Given the description of an element on the screen output the (x, y) to click on. 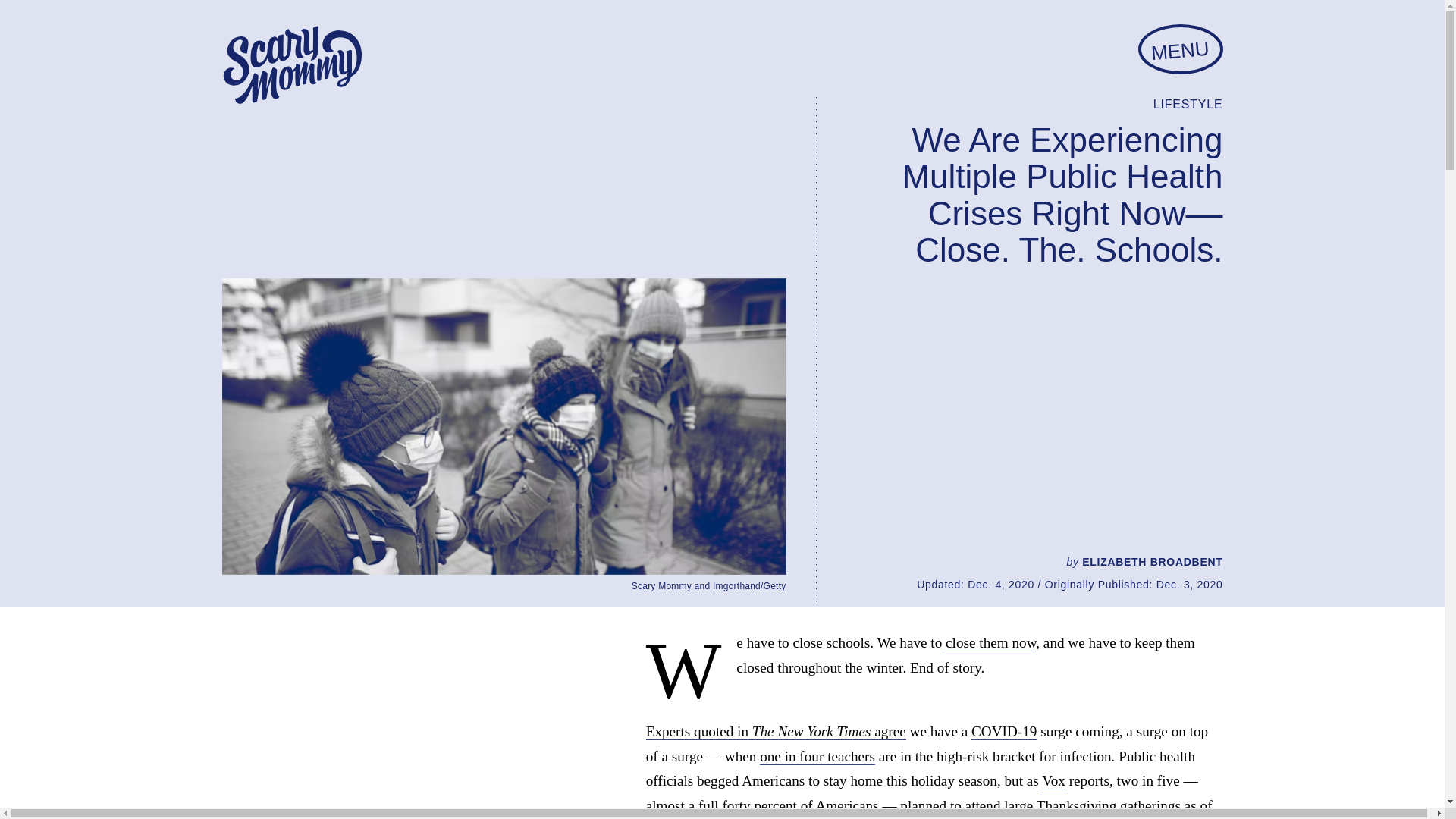
close them now (988, 642)
Experts quoted in The New York Times agree (775, 731)
one in four teachers (817, 756)
COVID-19 (1003, 731)
Scary Mommy (291, 64)
Vox (1053, 781)
